Given the description of an element on the screen output the (x, y) to click on. 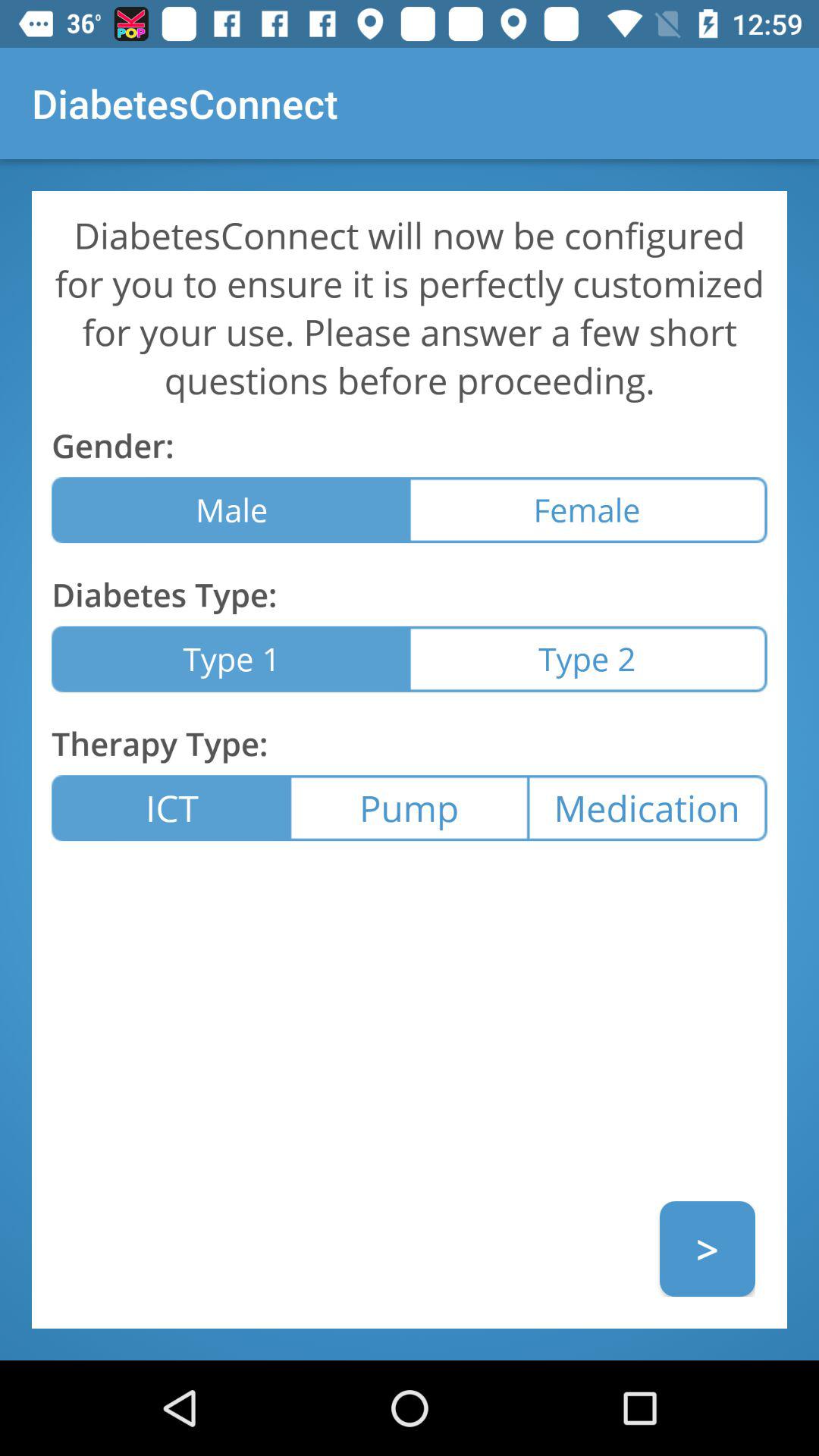
launch the icon next to medication icon (409, 808)
